Given the description of an element on the screen output the (x, y) to click on. 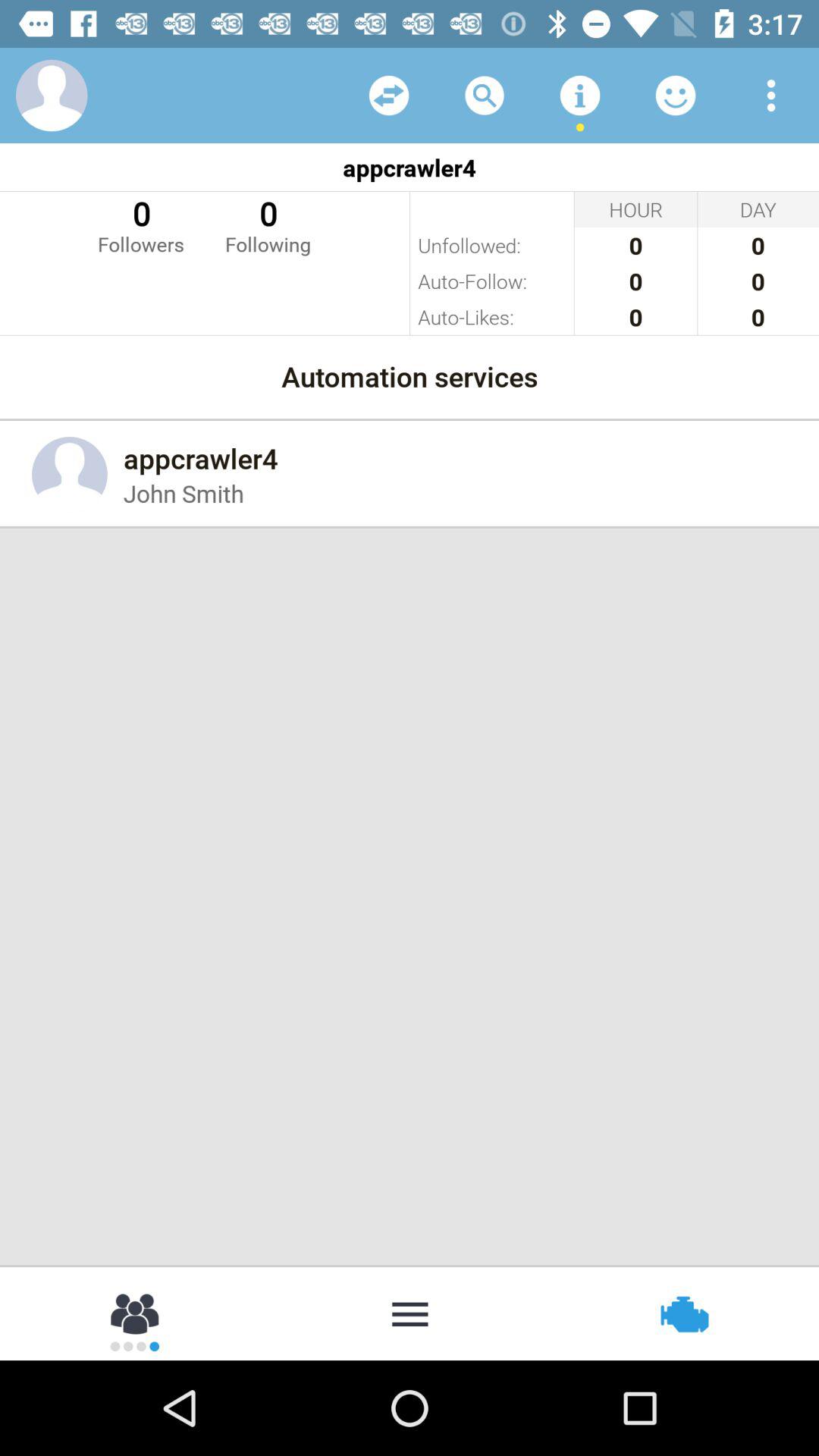
jump to 0
followers item (140, 224)
